Given the description of an element on the screen output the (x, y) to click on. 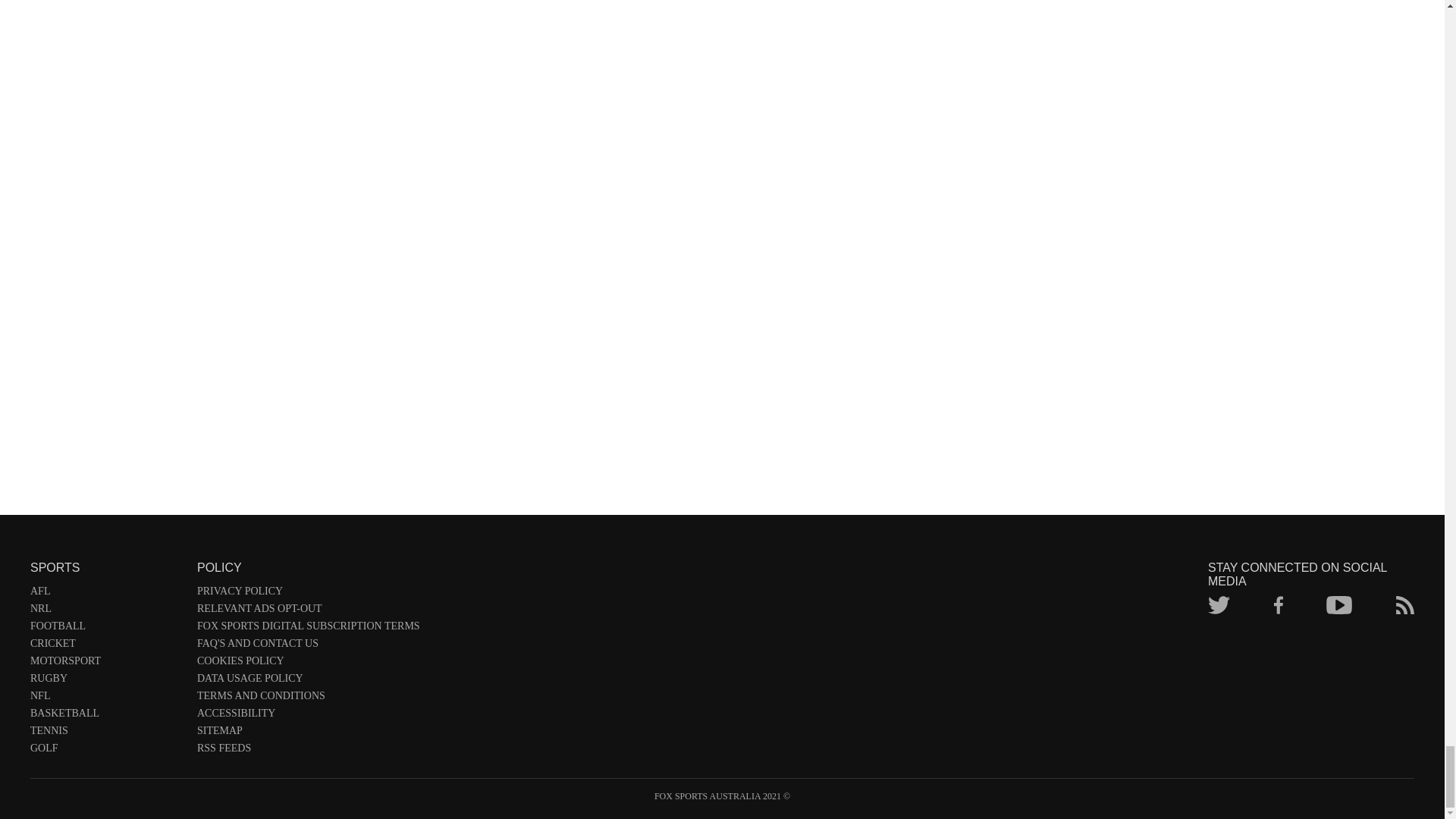
RSS FEEDS (308, 751)
FOOTBALL (106, 628)
SITEMAP (308, 733)
NFL (106, 698)
FOX SPORTS DIGITAL SUBSCRIPTION TERMS (308, 628)
AFL (106, 593)
RELEVANT ADS OPT-OUT (308, 610)
COOKIES POLICY (308, 663)
GOLF (106, 751)
TERMS AND CONDITIONS (308, 698)
